Given the description of an element on the screen output the (x, y) to click on. 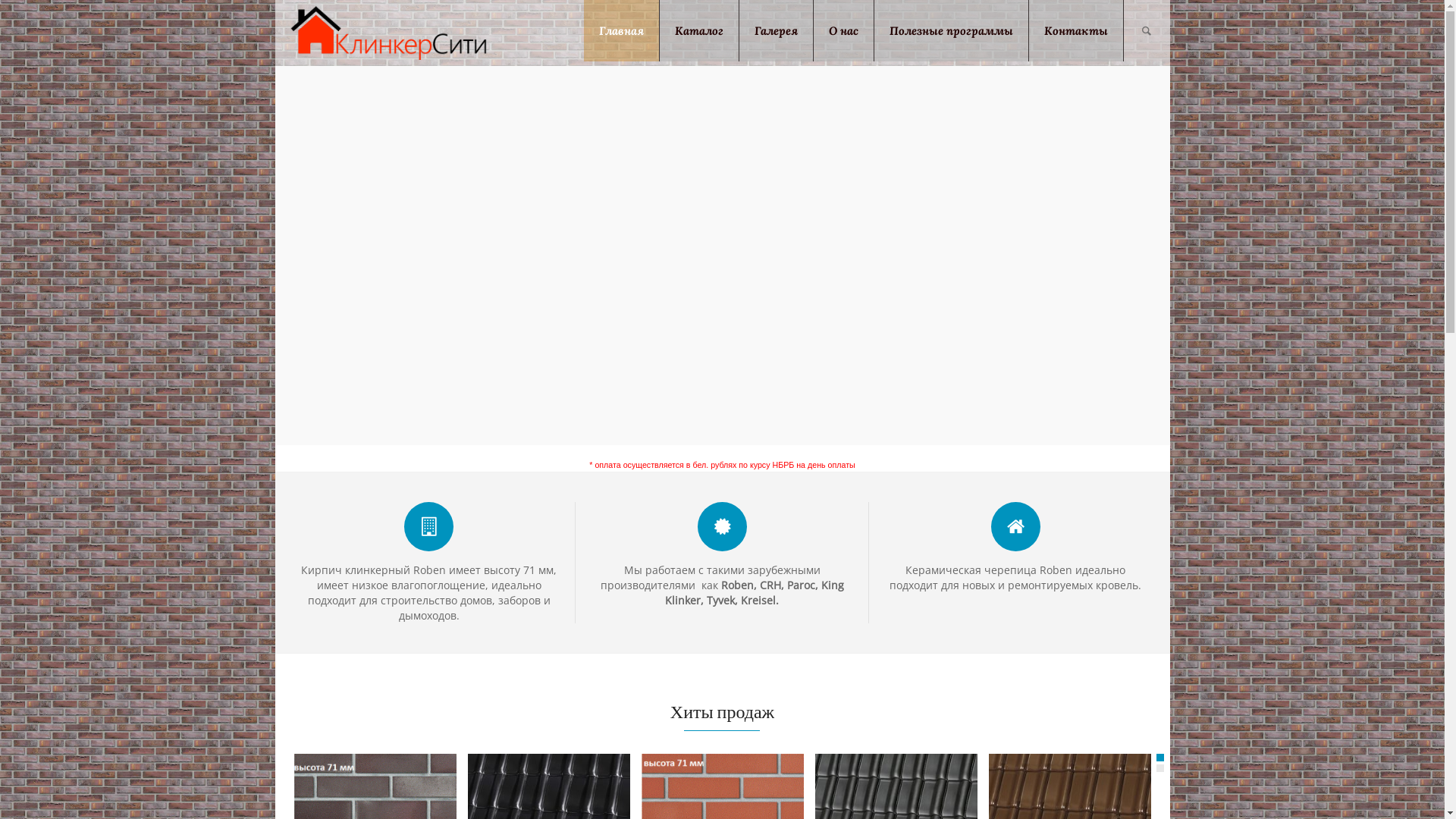
Klinkercity Element type: hover (387, 31)
Search Element type: hover (1146, 30)
